Given the description of an element on the screen output the (x, y) to click on. 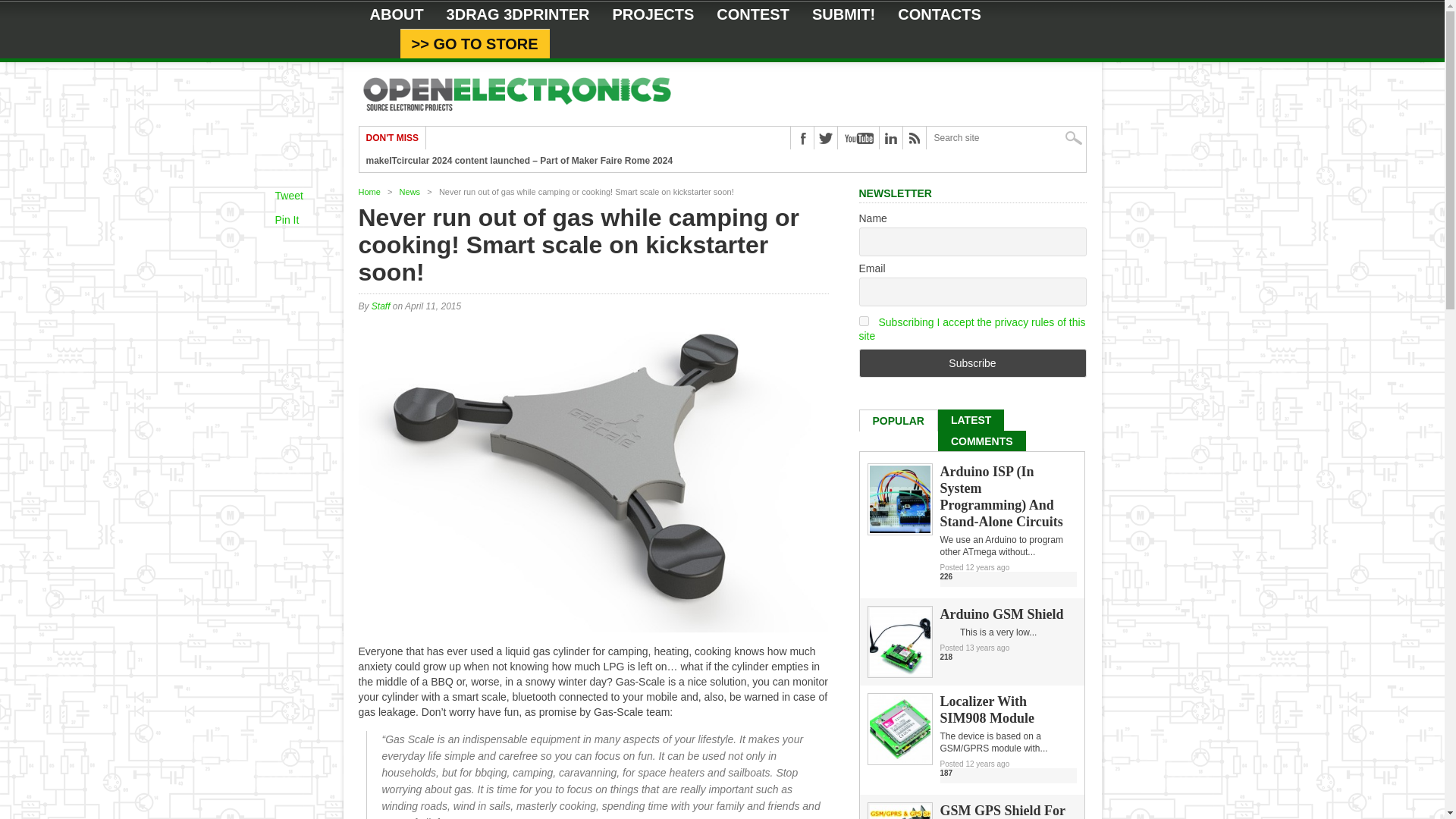
Subscribe (972, 362)
3DRAG 3DPRINTER (517, 13)
Home (369, 191)
ABOUT (396, 13)
Search site (1006, 137)
CONTEST (752, 13)
CONTACTS (939, 13)
SUBMIT! (843, 13)
News (409, 191)
Pin It (286, 219)
PROJECTS (653, 13)
Arduino GSM shield (899, 672)
Staff (380, 306)
Tweet (288, 195)
Posts by Staff (380, 306)
